Given the description of an element on the screen output the (x, y) to click on. 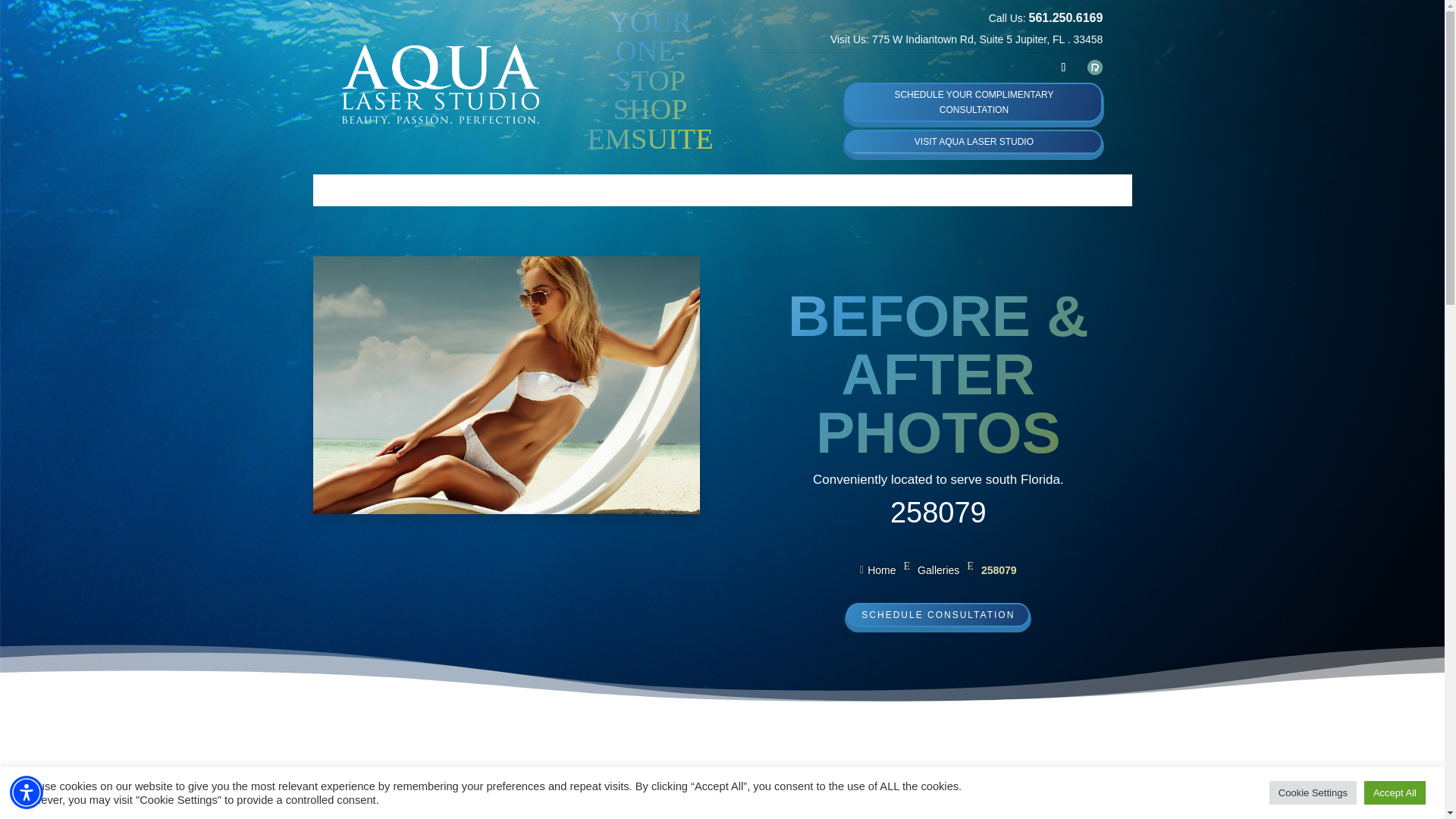
Gallery (846, 190)
About (582, 190)
all-white-logo (440, 83)
VISIT AQUA LASER STUDIO (973, 141)
Follow on  (1094, 67)
What To Expect (753, 190)
EmSuite (656, 190)
Follow on Facebook (1063, 67)
561.250.6169 (1066, 17)
Home (522, 190)
Accessibility Menu (26, 792)
SCHEDULE YOUR COMPLIMENTARY CONSULTATION (973, 102)
